Given the description of an element on the screen output the (x, y) to click on. 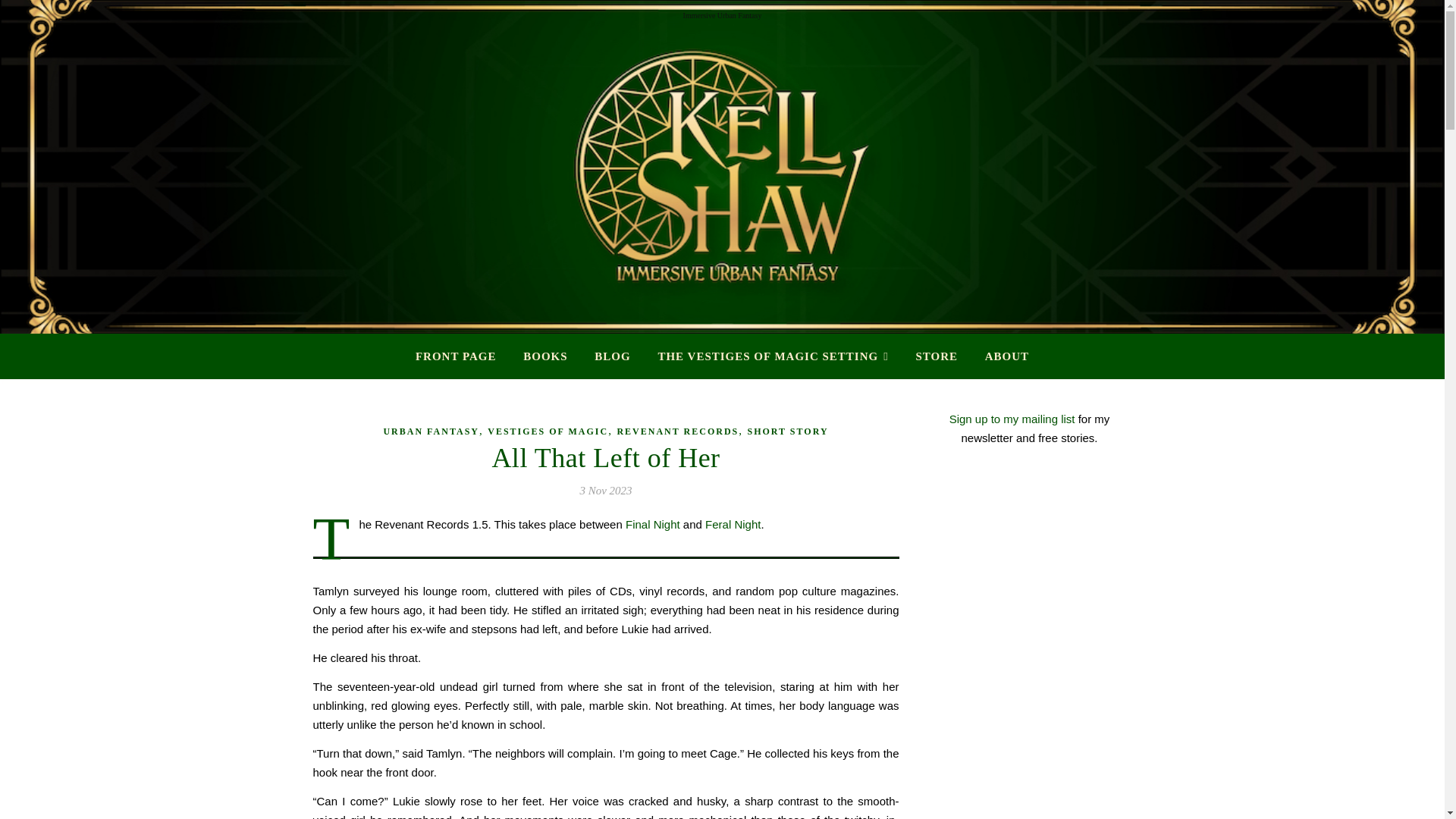
SHORT STORY (787, 430)
STORE (935, 356)
FRONT PAGE (461, 356)
THE VESTIGES OF MAGIC SETTING (772, 356)
Feral Night (732, 522)
ABOUT (1000, 356)
All That Left of Her (605, 458)
Final Night (652, 522)
VESTIGES OF MAGIC (547, 430)
BOOKS (545, 356)
